Given the description of an element on the screen output the (x, y) to click on. 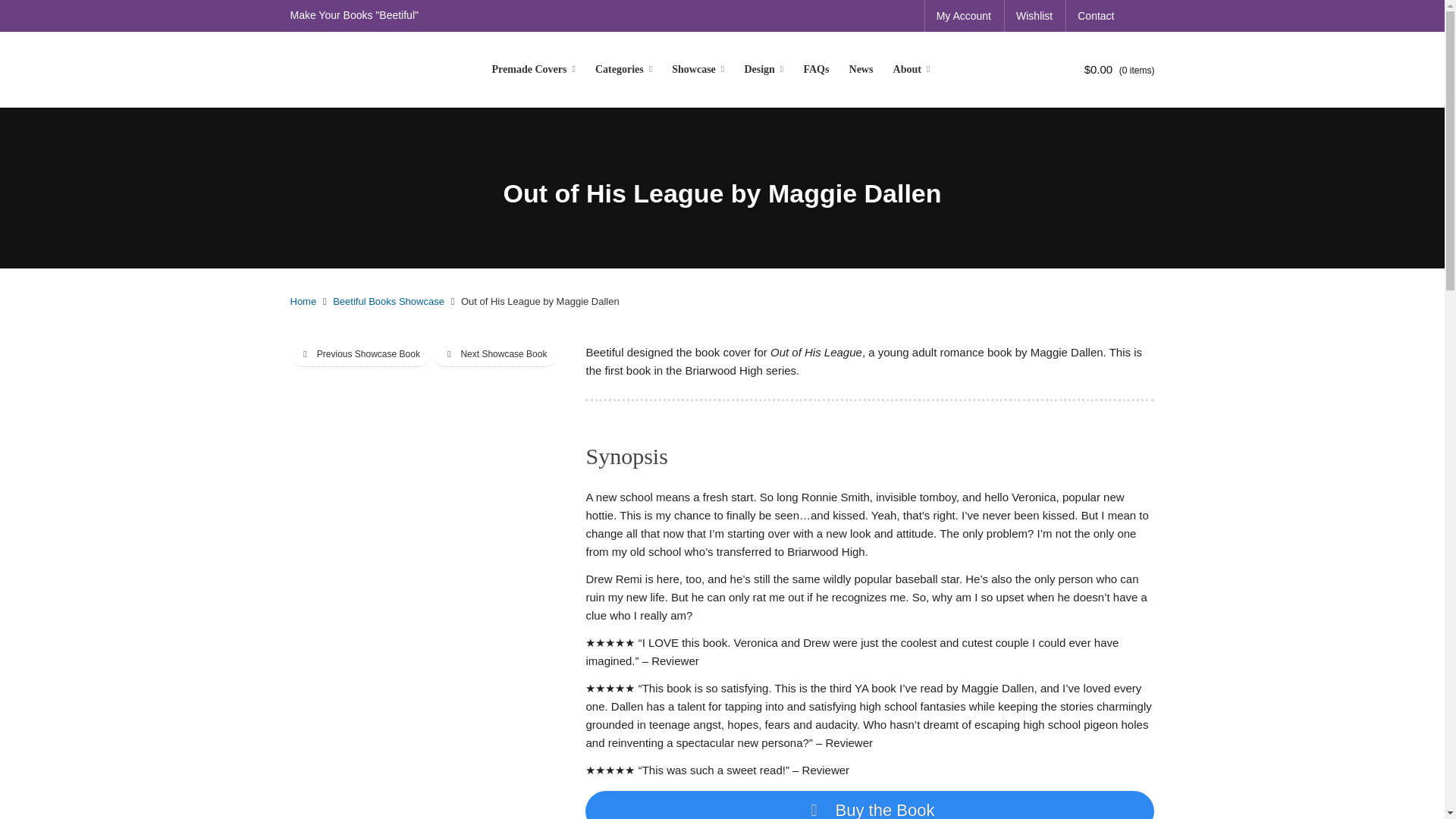
My Account (963, 15)
Wishlist (1034, 15)
Contact (1095, 15)
Contact (1095, 15)
View your shopping cart (1104, 70)
Wishlist (1034, 15)
Premade Covers (533, 69)
My Account (963, 15)
